Given the description of an element on the screen output the (x, y) to click on. 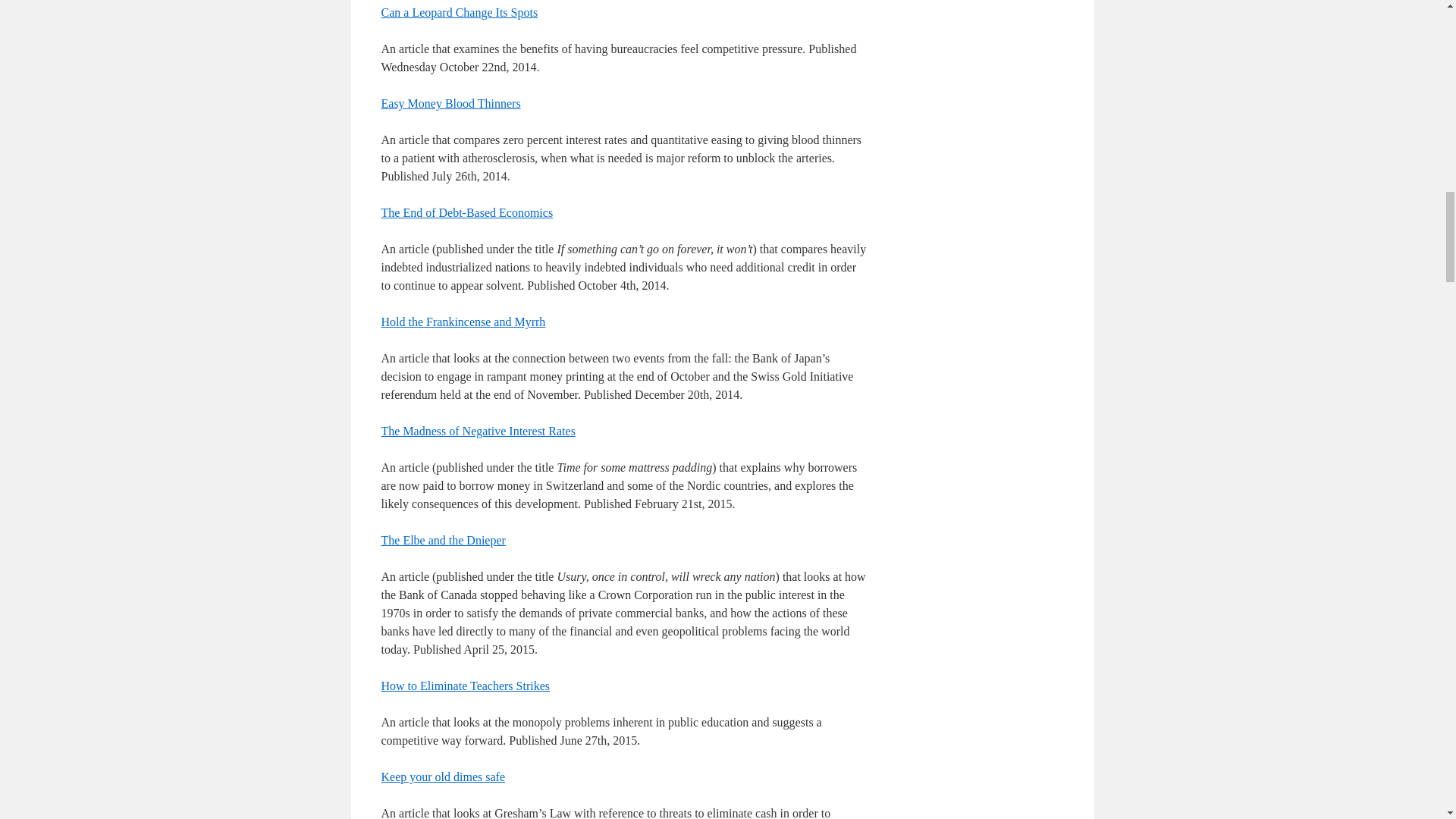
The Madness of Negative Interest Rates (477, 431)
Keep your old dimes safe (442, 776)
How to Eliminate Teachers Strikes (465, 685)
Hold the Frankincense and Myrrh (462, 321)
The Elbe and the Dnieper (442, 540)
Easy Money Blood Thinners (449, 103)
Can a Leopard Change Its Spots (458, 11)
The End of Debt-Based Economics (466, 212)
